Given the description of an element on the screen output the (x, y) to click on. 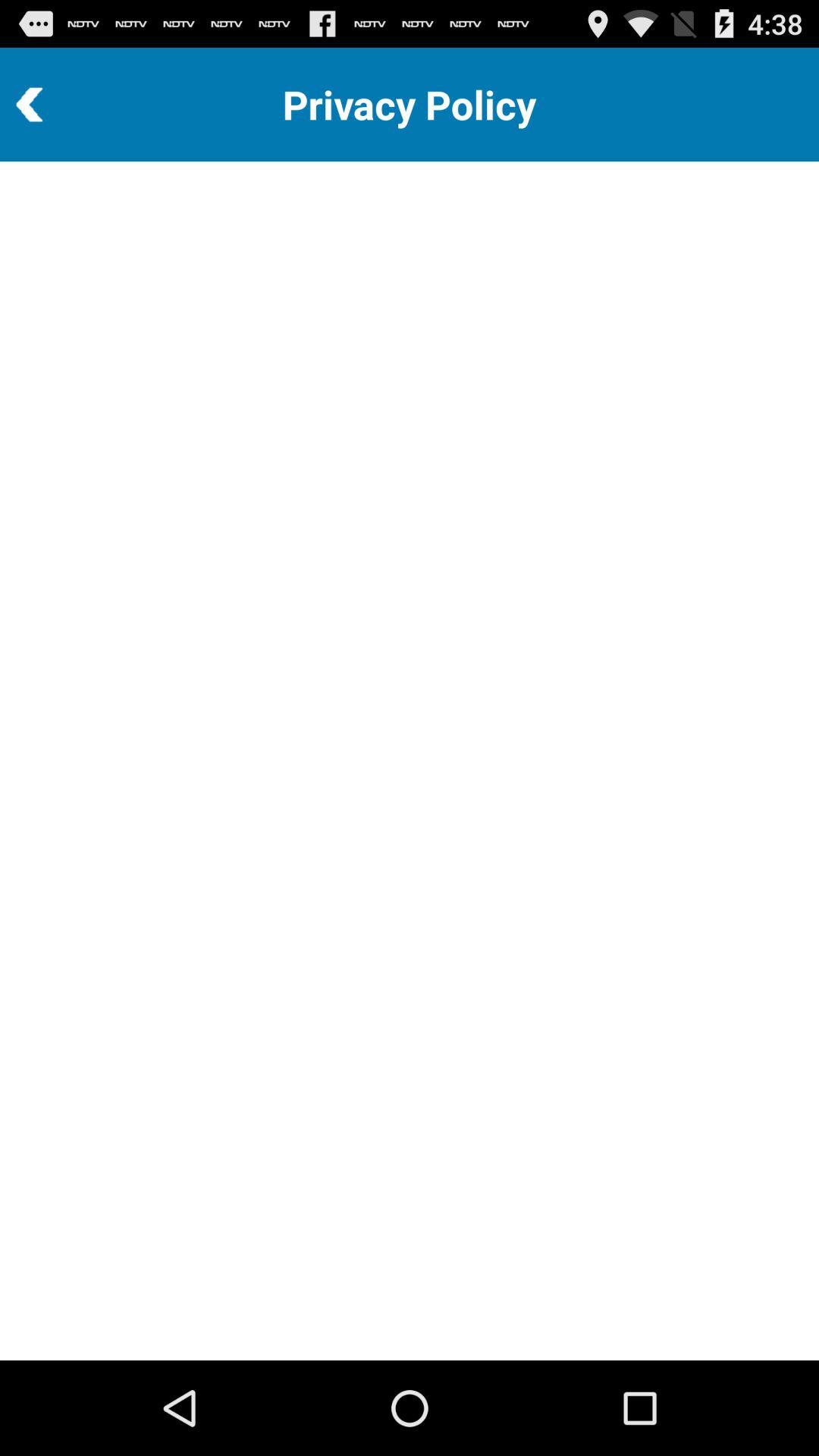
open icon to the left of privacy policy icon (70, 104)
